Given the description of an element on the screen output the (x, y) to click on. 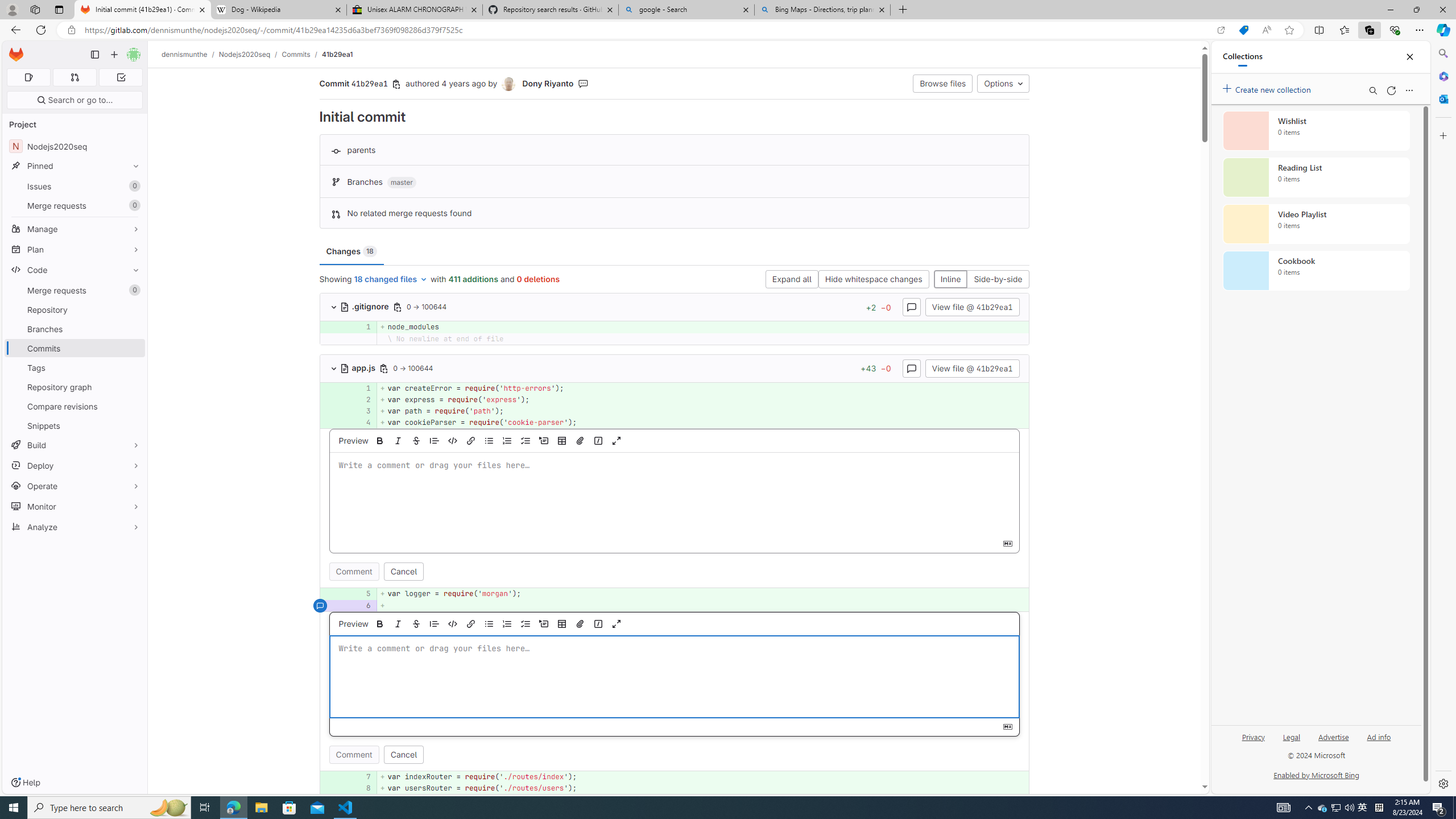
AutomationID: 4a68969ef8e858229267b842dedf42ab5dde4d50_0_5 (674, 594)
Options (1002, 83)
Wishlist collection, 0 items (1316, 130)
Dony Riyanto (547, 83)
Preview (352, 623)
Repository graph (74, 386)
Dony Riyanto's avatar (508, 83)
7 (360, 776)
